Given the description of an element on the screen output the (x, y) to click on. 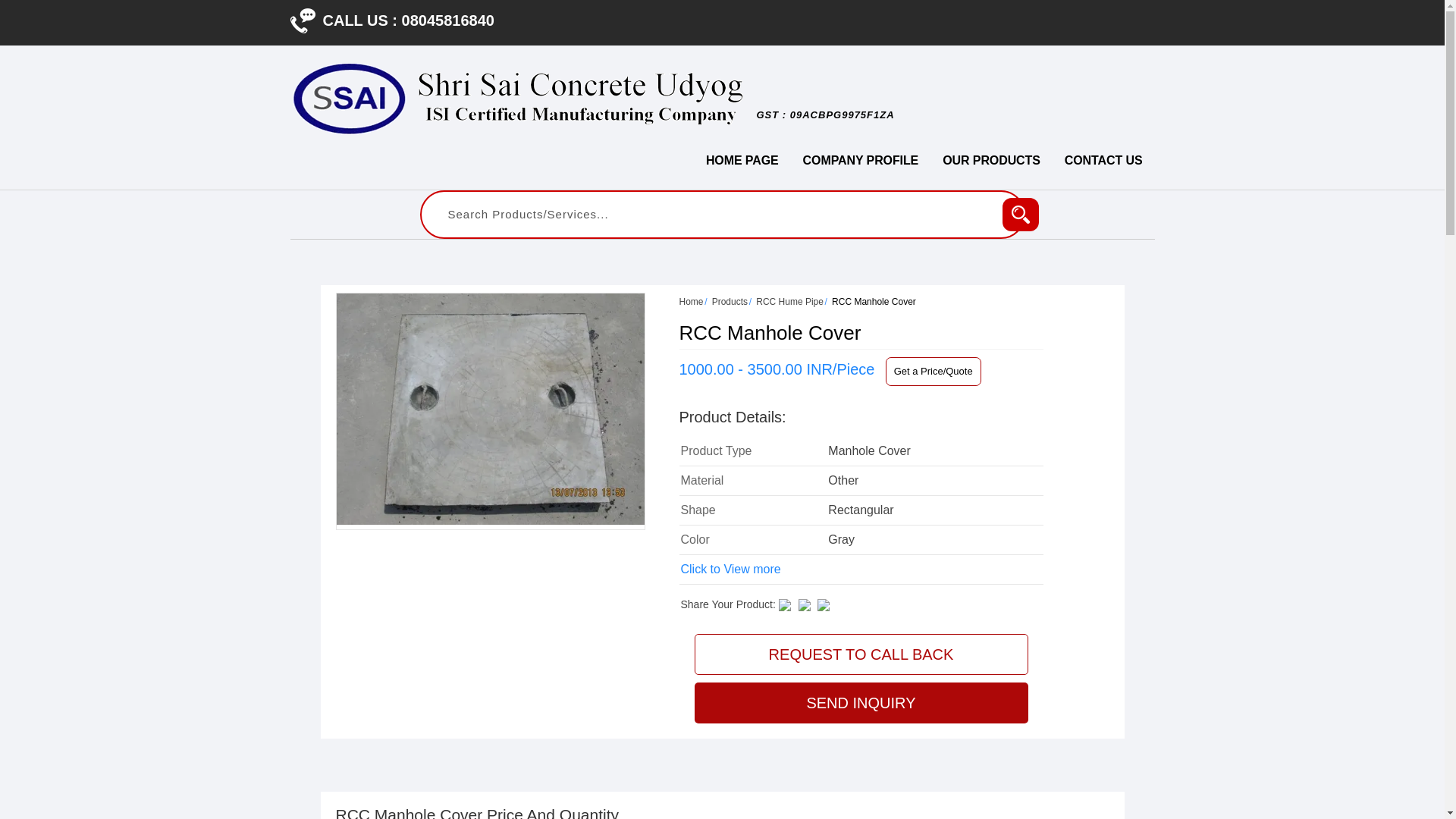
submit (1021, 214)
Click to View more (730, 569)
Home (691, 301)
RCC Hume Pipe (789, 301)
SEND INQUIRY (860, 702)
GST : 09ACBPG9975F1ZA (825, 122)
Products (729, 301)
Search (1021, 214)
COMPANY PROFILE (860, 160)
CONTACT US (1103, 160)
HOME PAGE (742, 160)
REQUEST TO CALL BACK (860, 653)
Call Us (301, 20)
OUR PRODUCTS (991, 160)
